Given the description of an element on the screen output the (x, y) to click on. 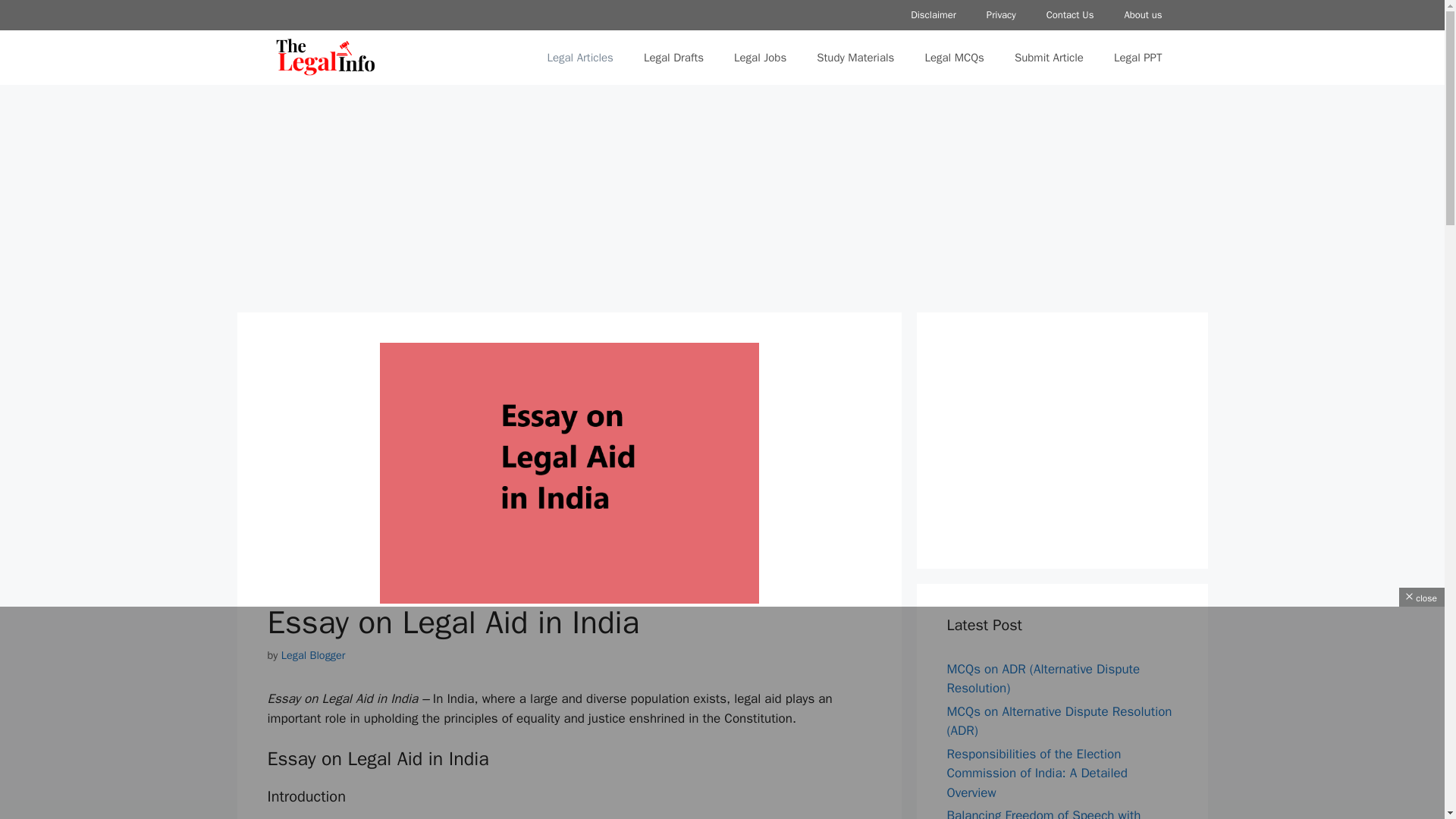
View all posts by Legal Blogger (313, 654)
The Legal Info (324, 57)
Balancing Freedom of Speech with Responsibility (1043, 813)
About us (1142, 15)
Submit Article (1048, 57)
Legal MCQs (953, 57)
Legal Jobs (760, 57)
Study Materials (855, 57)
Privacy (1000, 15)
Contact Us (1069, 15)
Legal PPT (1138, 57)
Legal Drafts (673, 57)
Legal Blogger (313, 654)
